Given the description of an element on the screen output the (x, y) to click on. 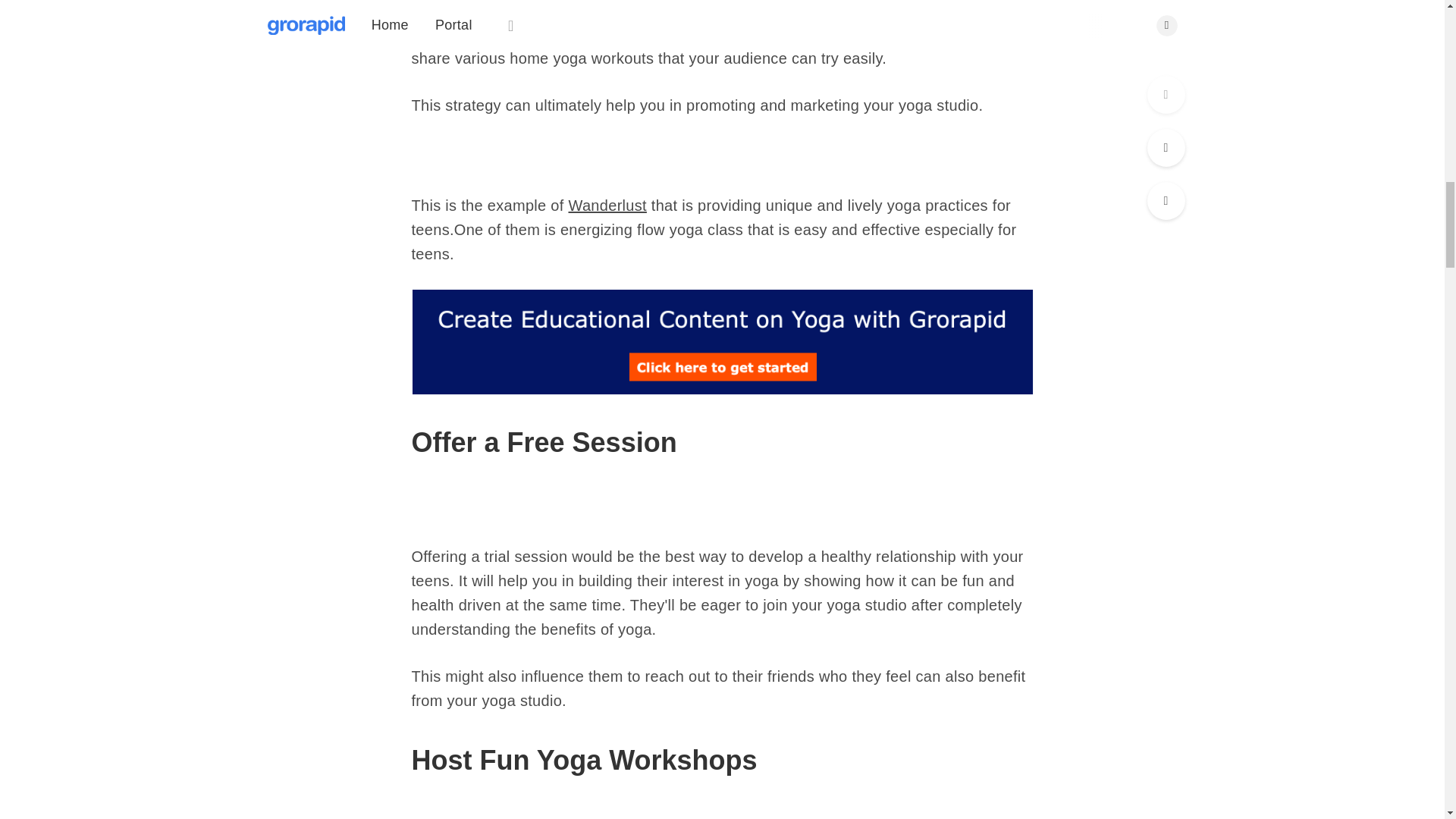
Wanderlust (607, 205)
